Given the description of an element on the screen output the (x, y) to click on. 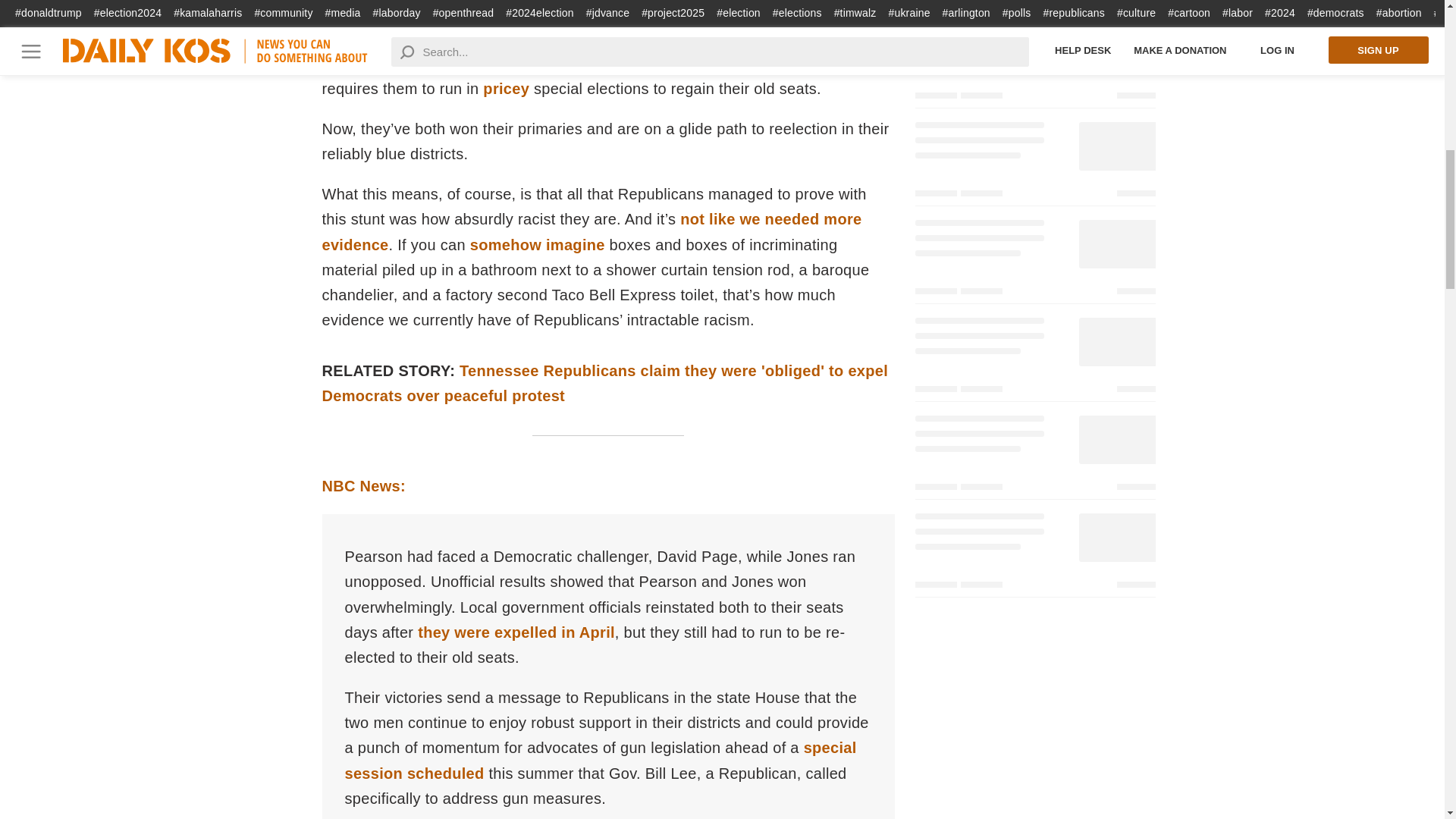
Loading... (1034, 553)
Loading... (1034, 357)
Loading... (1034, 454)
Loading... (1034, 161)
Loading... (1034, 259)
Loading... (1034, 63)
Loading... (1034, 6)
